Given the description of an element on the screen output the (x, y) to click on. 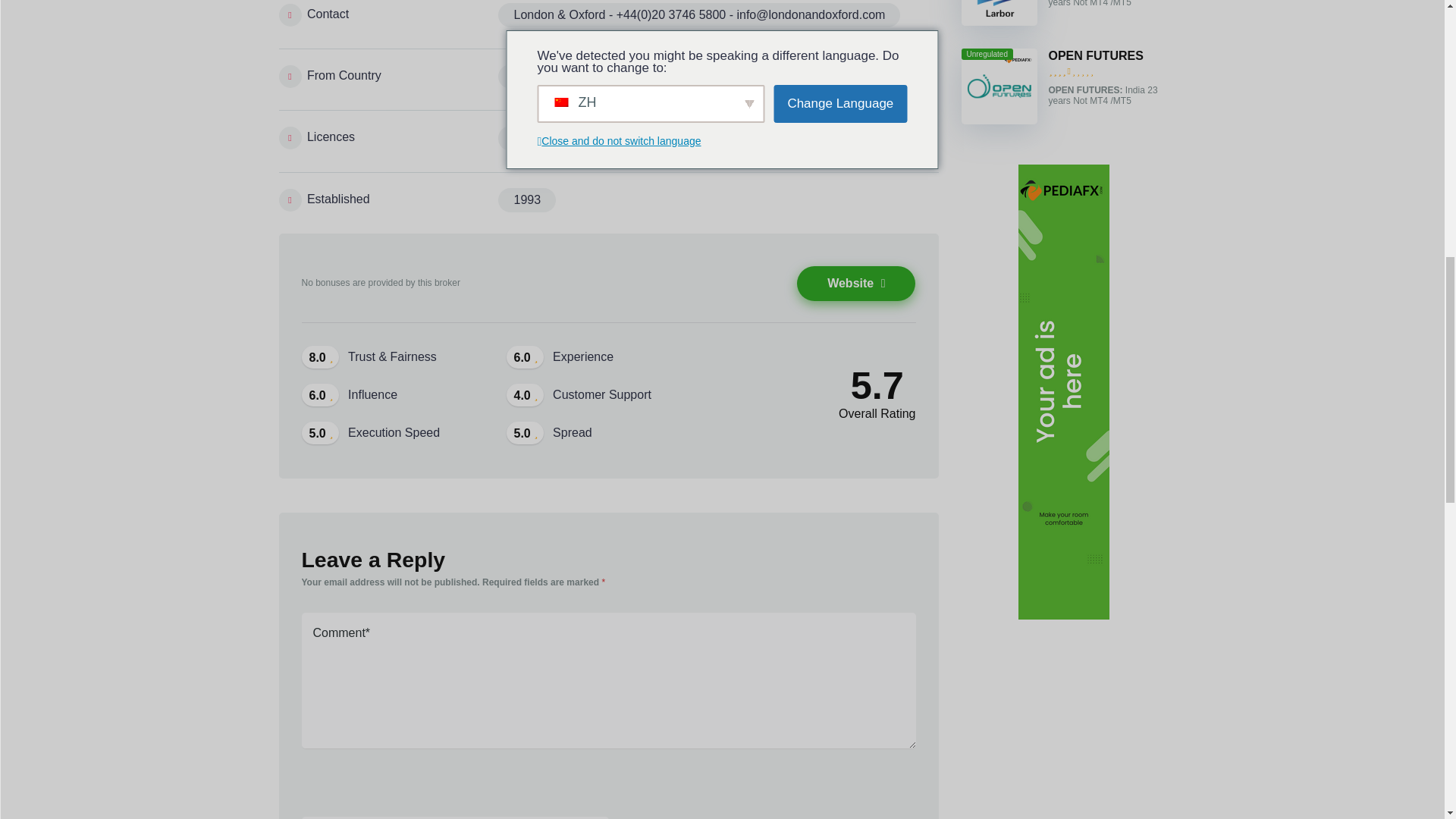
Website (855, 283)
1993 (526, 200)
